Given the description of an element on the screen output the (x, y) to click on. 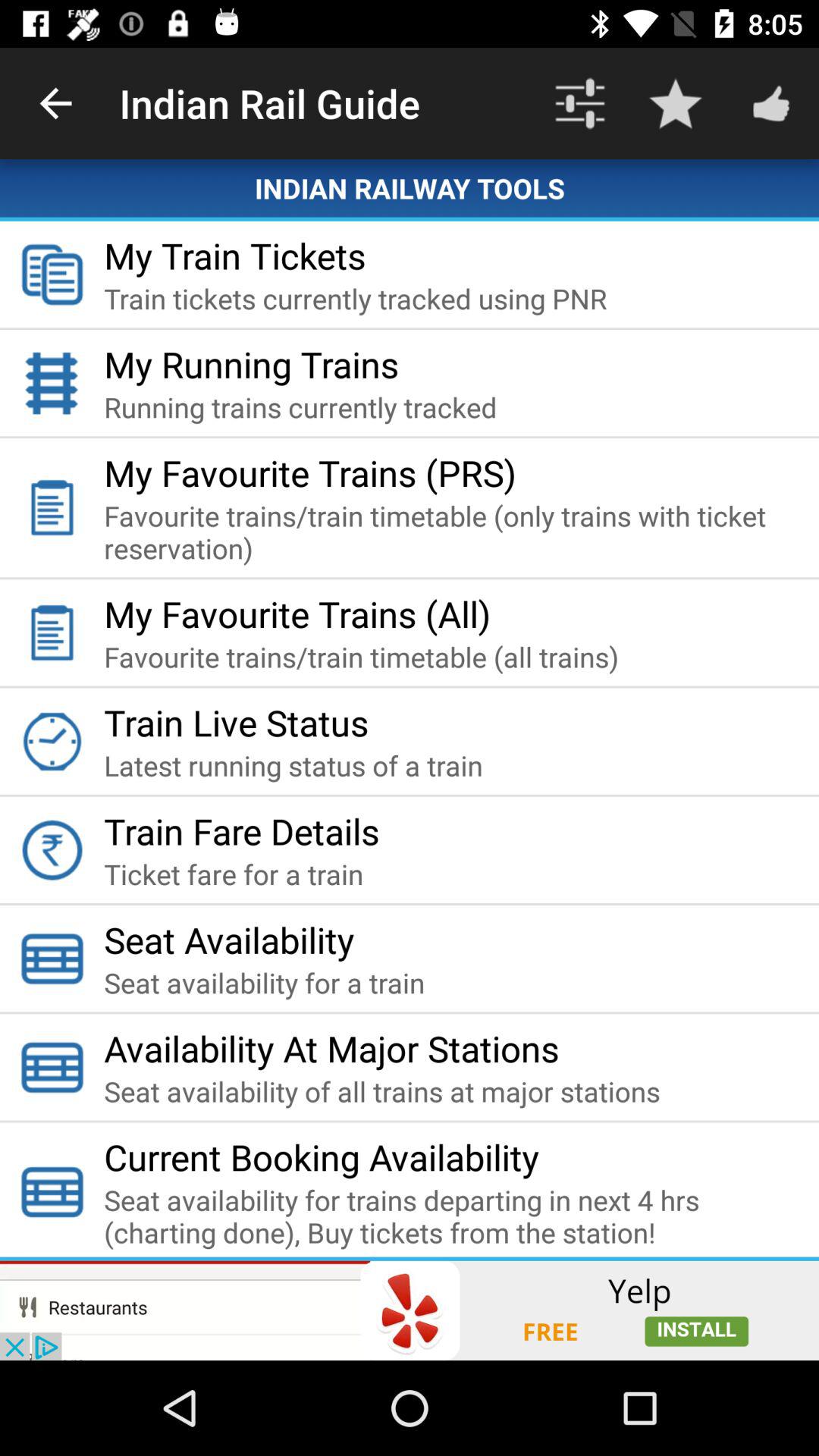
install yelp (409, 1310)
